Given the description of an element on the screen output the (x, y) to click on. 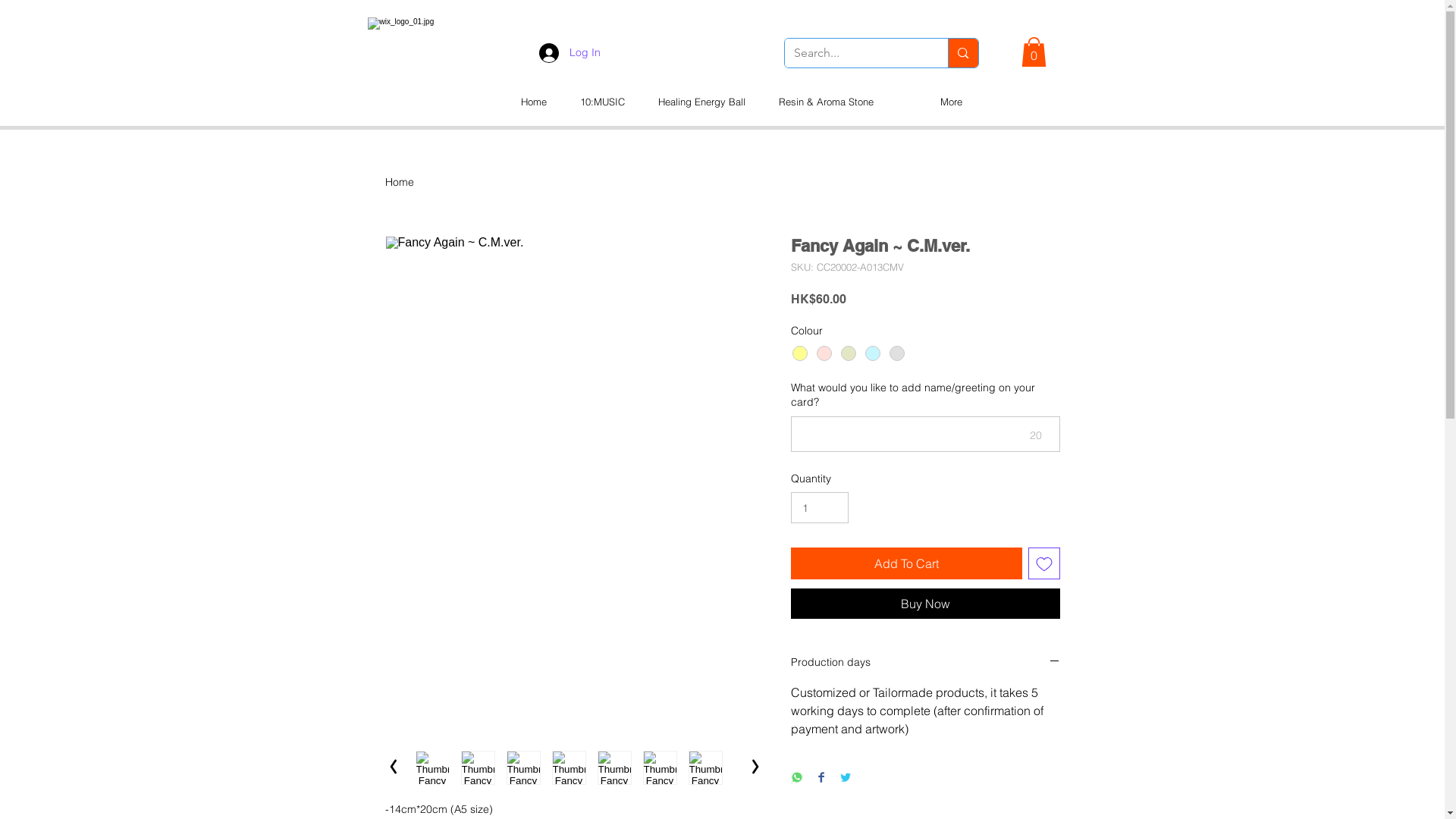
Buy Now Element type: text (924, 603)
10:MUSIC Element type: text (601, 101)
Log In Element type: text (568, 52)
0 Element type: text (1032, 51)
Home Element type: text (532, 101)
Add To Cart Element type: text (905, 563)
Home Element type: text (399, 181)
Healing Energy Ball Element type: text (701, 101)
Production days Element type: text (924, 663)
Resin & Aroma Stone Element type: text (825, 101)
